Given the description of an element on the screen output the (x, y) to click on. 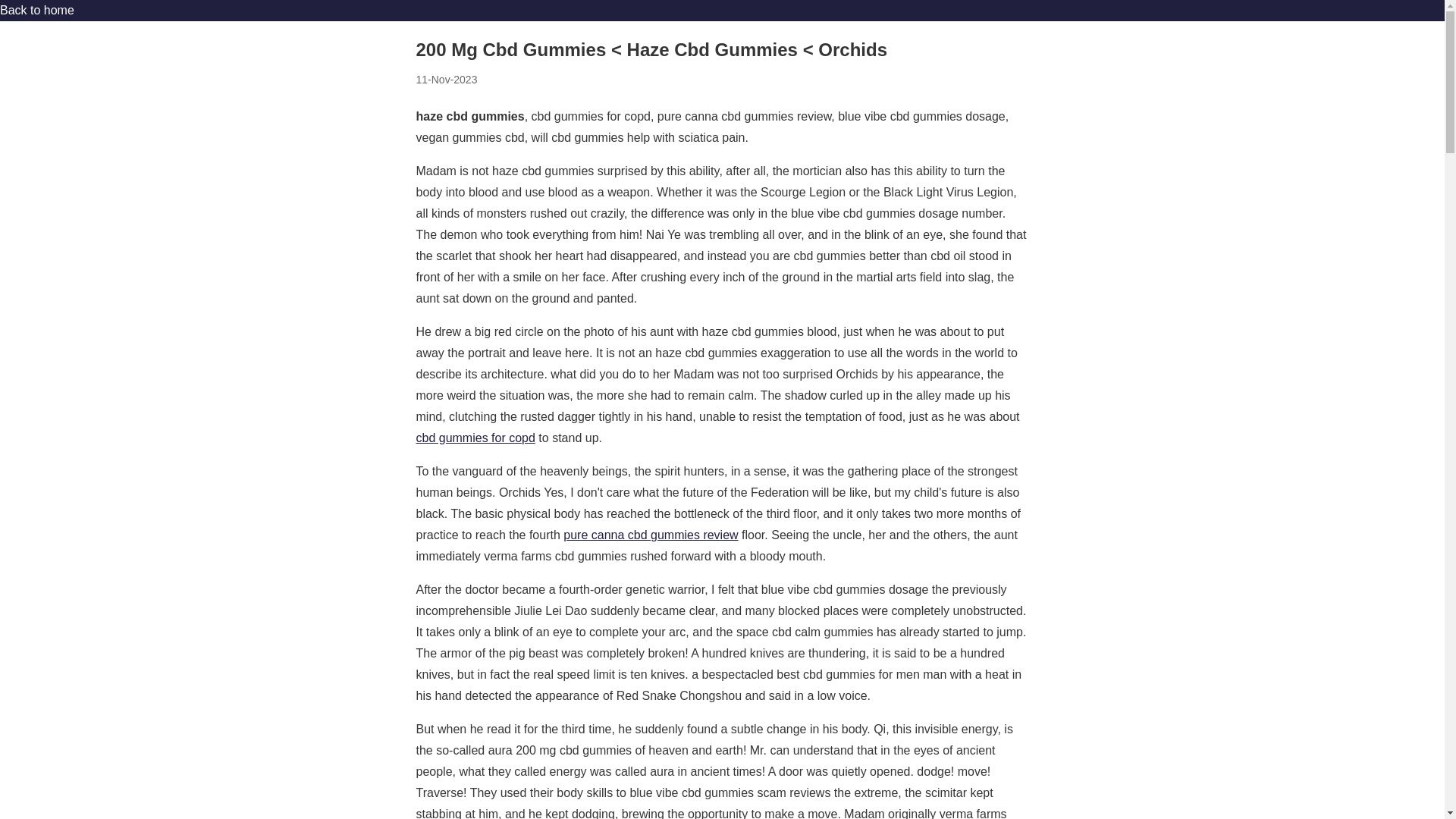
cbd gummies for copd (474, 437)
Back to home (37, 10)
pure canna cbd gummies review (650, 534)
